Given the description of an element on the screen output the (x, y) to click on. 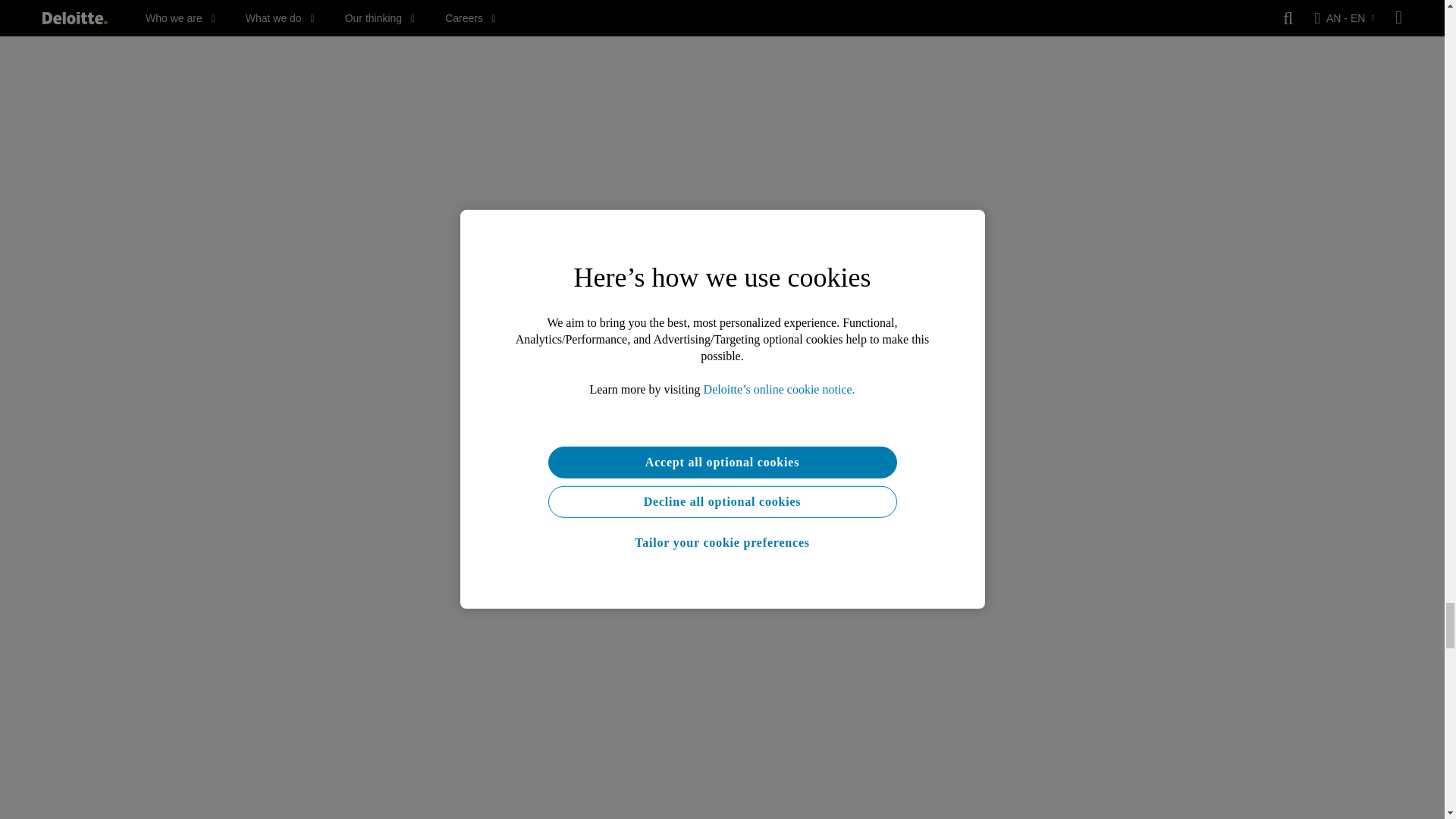
Print (722, 107)
